Given the description of an element on the screen output the (x, y) to click on. 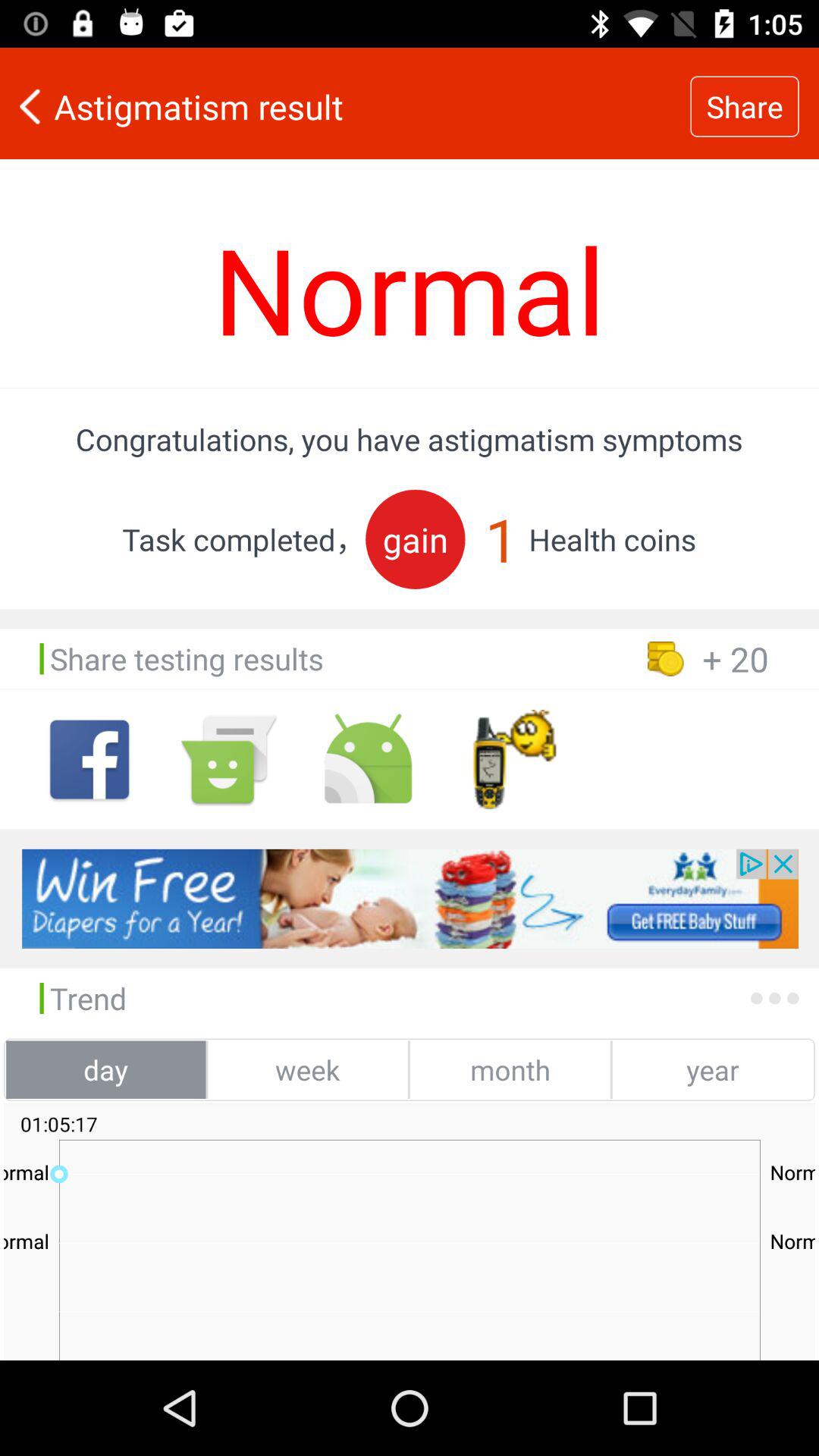
scroll until the astigmatism result item (345, 106)
